Given the description of an element on the screen output the (x, y) to click on. 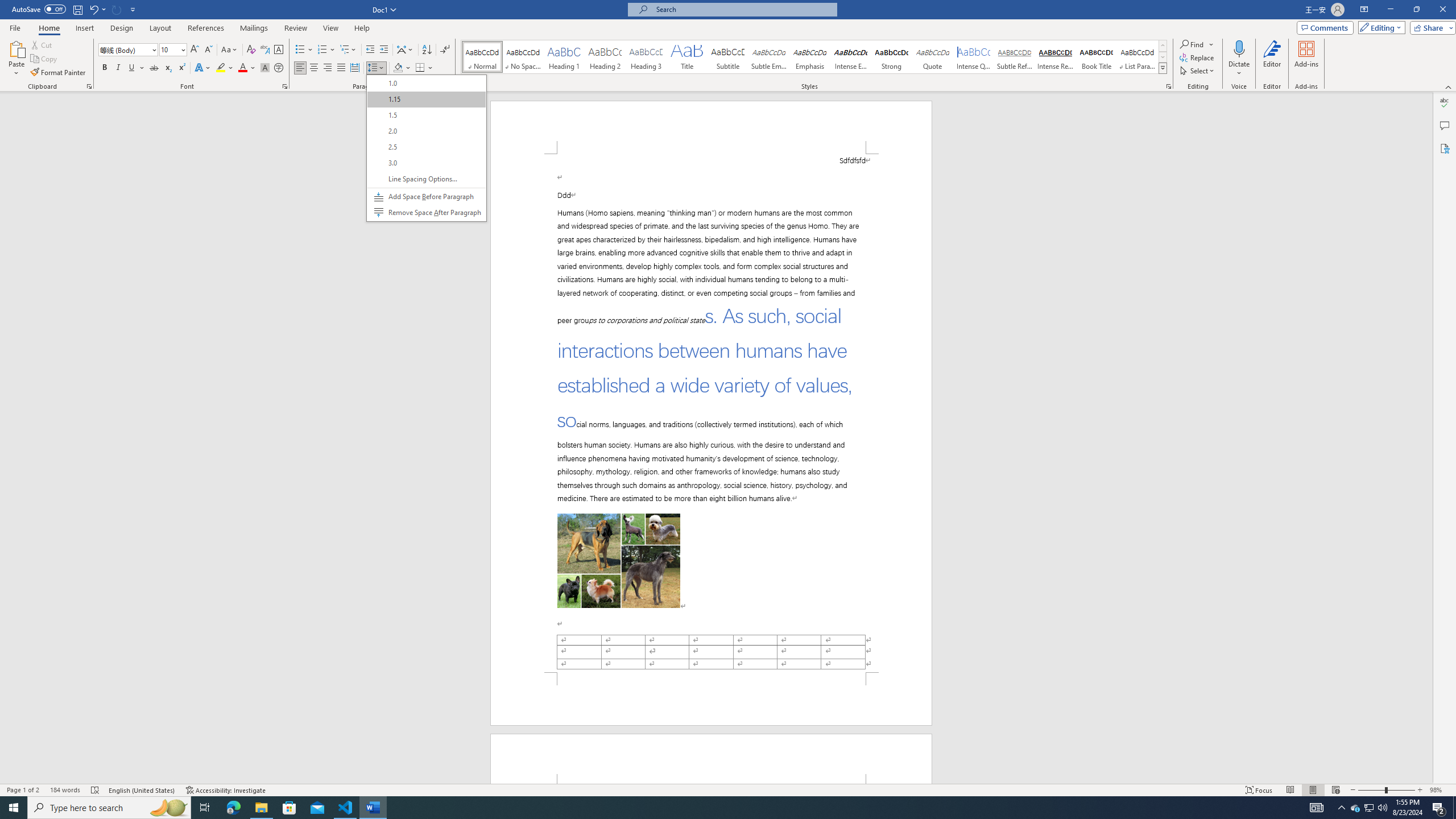
AutomationID: QuickStylesGallery (814, 56)
Cut (42, 44)
Emphasis (809, 56)
Shrink Font (208, 49)
Center (313, 67)
AutomationID: 4105 (1355, 807)
Strikethrough (1316, 807)
Italic (154, 67)
Text Highlight Color Yellow (118, 67)
